Given the description of an element on the screen output the (x, y) to click on. 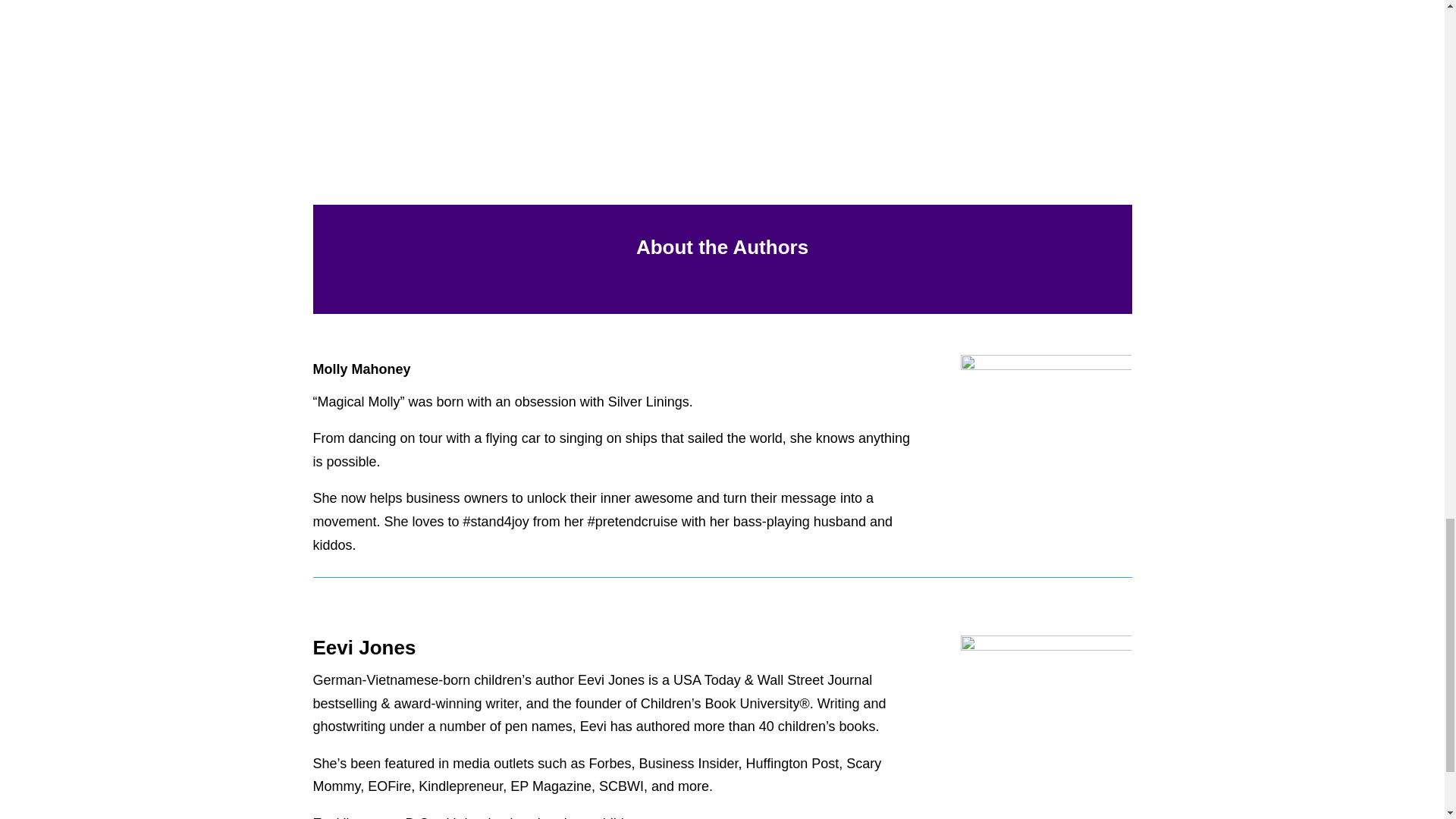
Eevi Jones (1045, 721)
Screen Shot 2021-09-08 at 5.56.00 PM (894, 40)
Molly Mahoney (1045, 410)
